Given the description of an element on the screen output the (x, y) to click on. 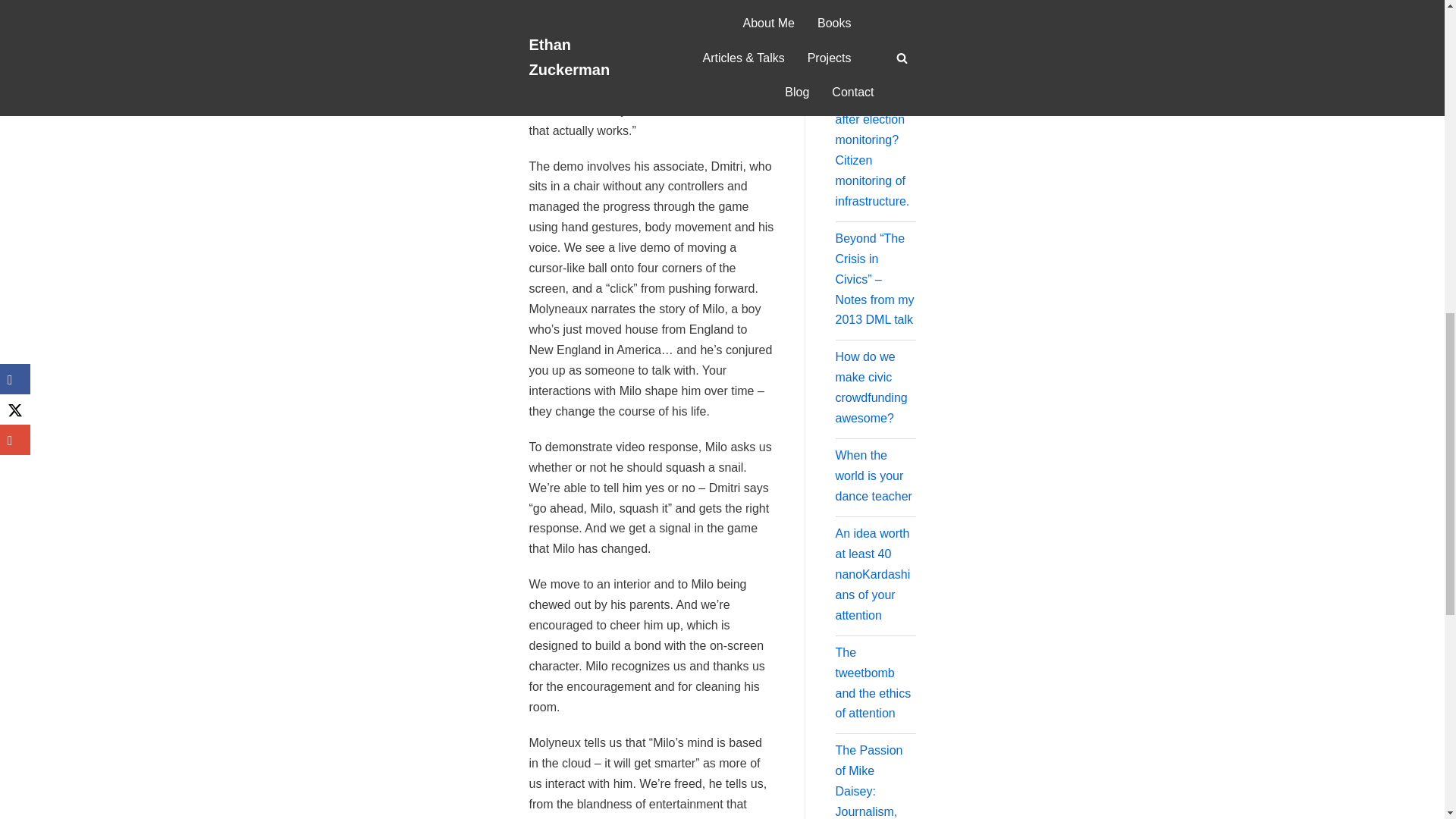
When the world is your dance teacher (873, 475)
How do we make civic crowdfunding awesome? (871, 387)
The tweetbomb and the ethics of attention (873, 683)
